Given the description of an element on the screen output the (x, y) to click on. 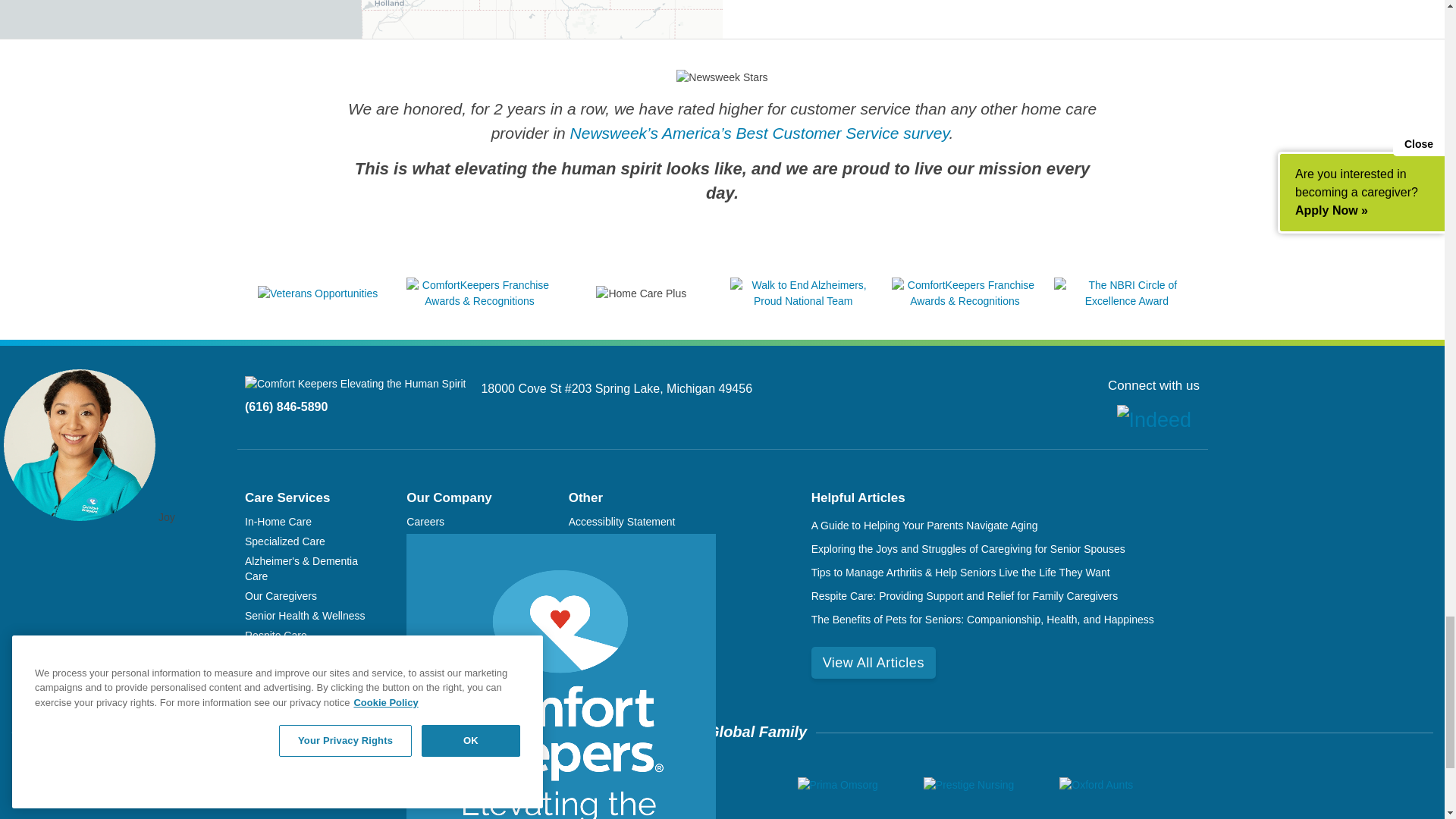
Learn more about the NBRI Circle of Excellence Award (1126, 300)
Prestige Nursing (968, 785)
The Good Care Group (569, 784)
Indeed (1153, 418)
Prima Assistanse (706, 784)
Cherished Homecare (357, 784)
Indeed (1153, 419)
Abri (463, 785)
Prima Omsorg (837, 785)
Walk to End Alzheimers, Proud National Team (803, 300)
Veterans Opportunities (317, 292)
